Given the description of an element on the screen output the (x, y) to click on. 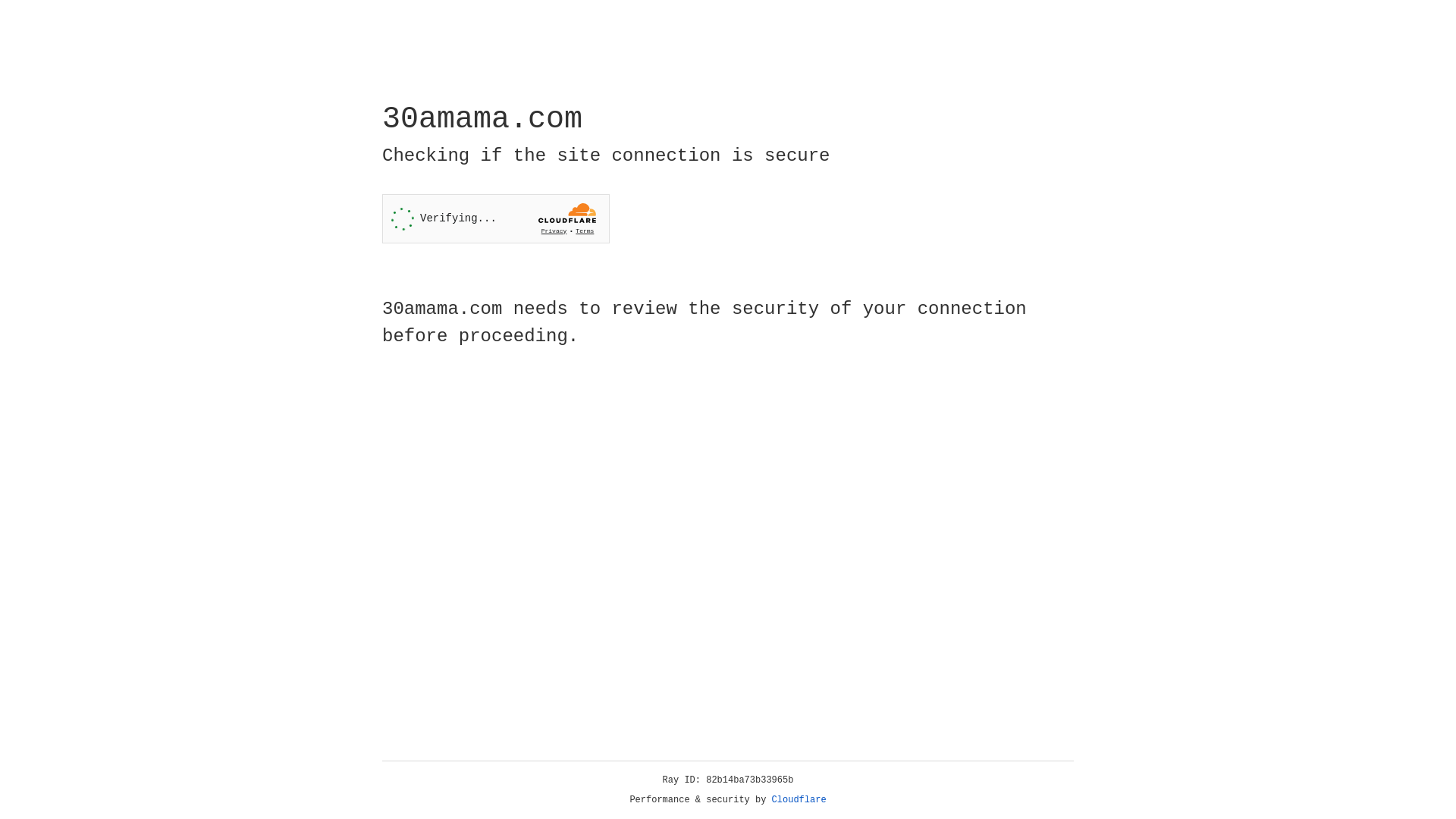
Widget containing a Cloudflare security challenge Element type: hover (495, 218)
Cloudflare Element type: text (798, 799)
